Given the description of an element on the screen output the (x, y) to click on. 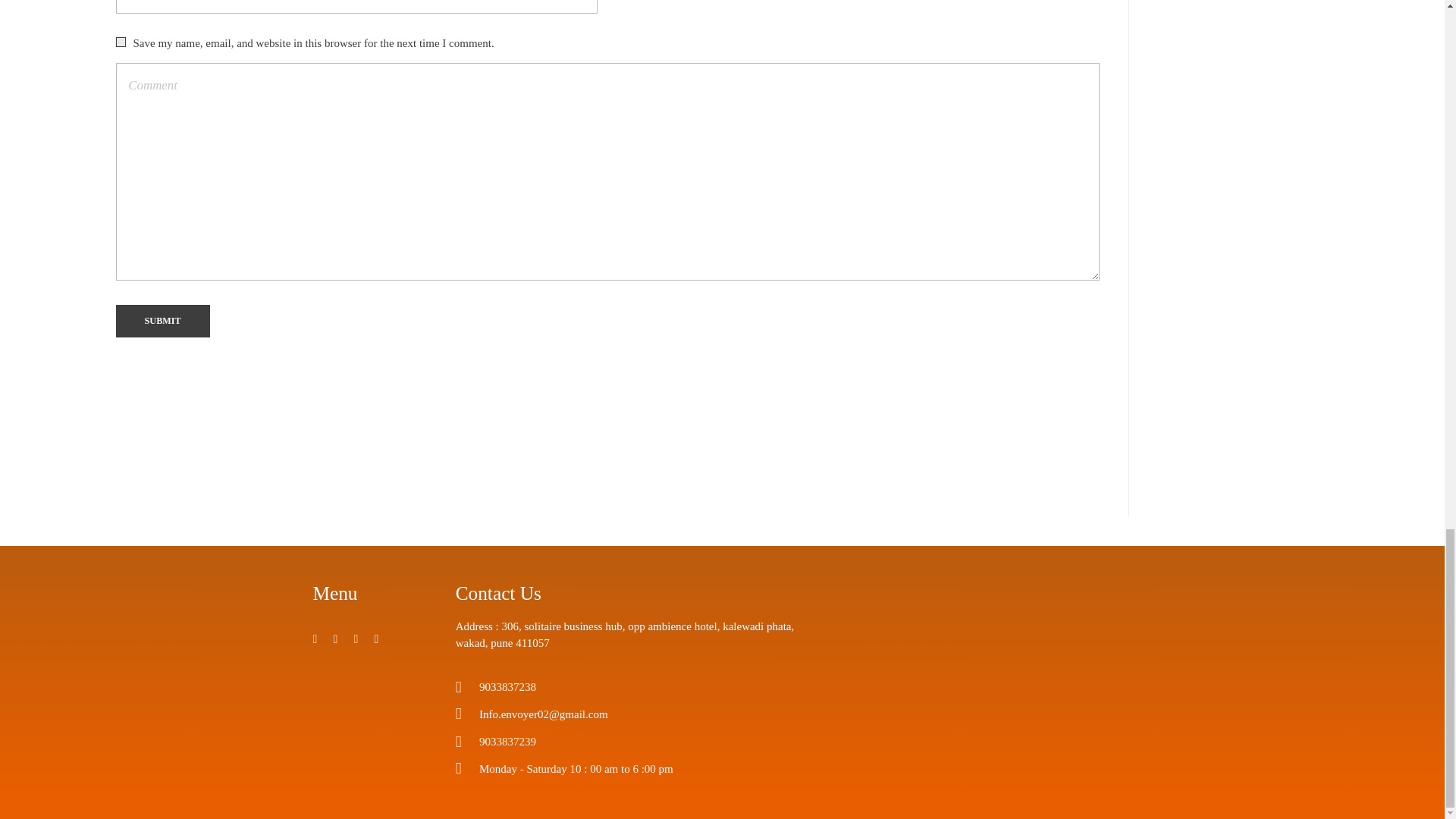
yes (120, 41)
Submit (162, 320)
Submit (162, 320)
